Given the description of an element on the screen output the (x, y) to click on. 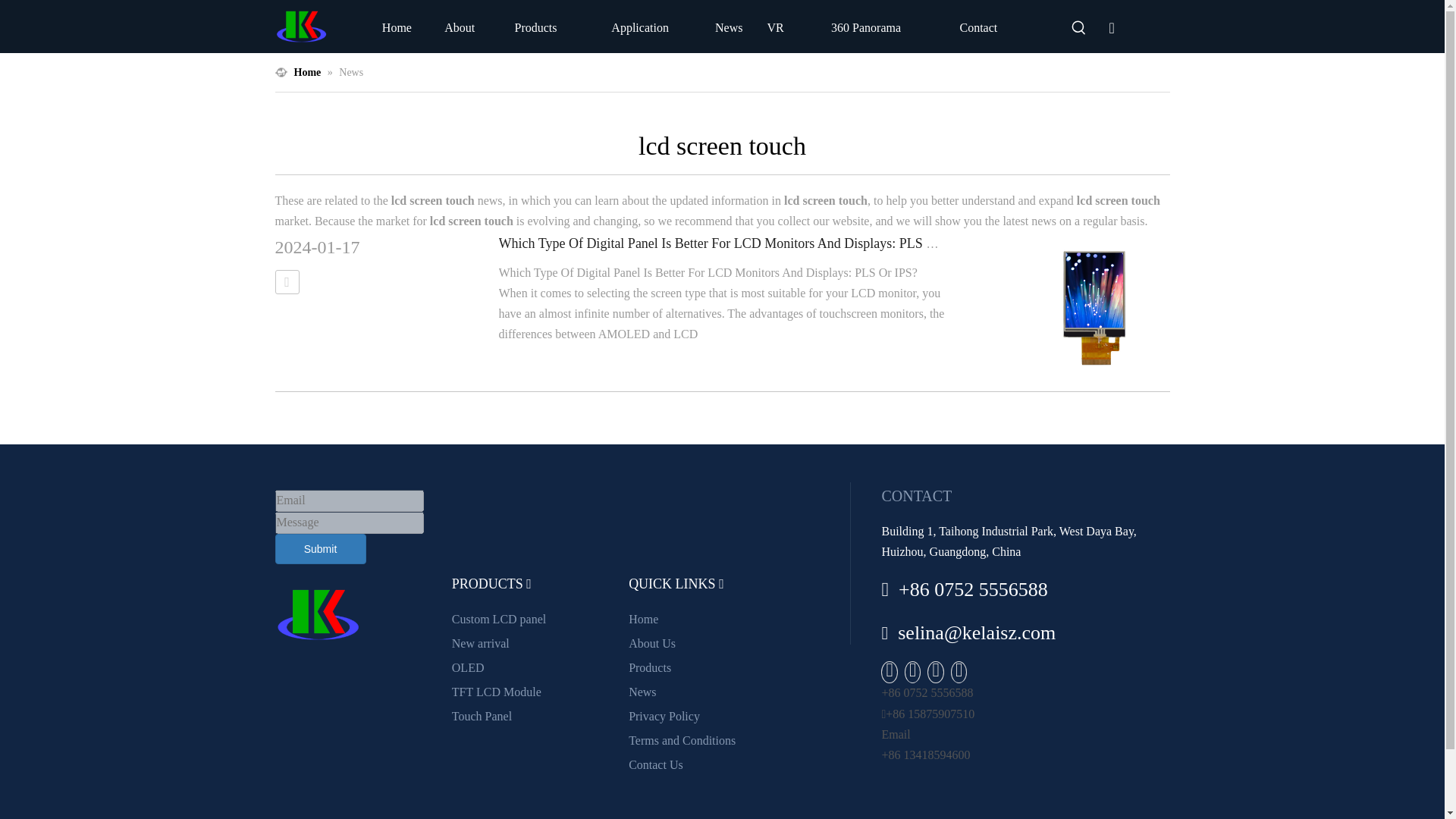
Home (396, 27)
Contact Us (655, 764)
Products (649, 667)
360 Panorama (866, 27)
New arrival (480, 643)
LOGO (317, 614)
Touch Panel (481, 716)
Application (639, 27)
VR (775, 27)
LOGO (301, 26)
Contact (978, 27)
About (460, 27)
News (642, 691)
About Us (651, 643)
